Given the description of an element on the screen output the (x, y) to click on. 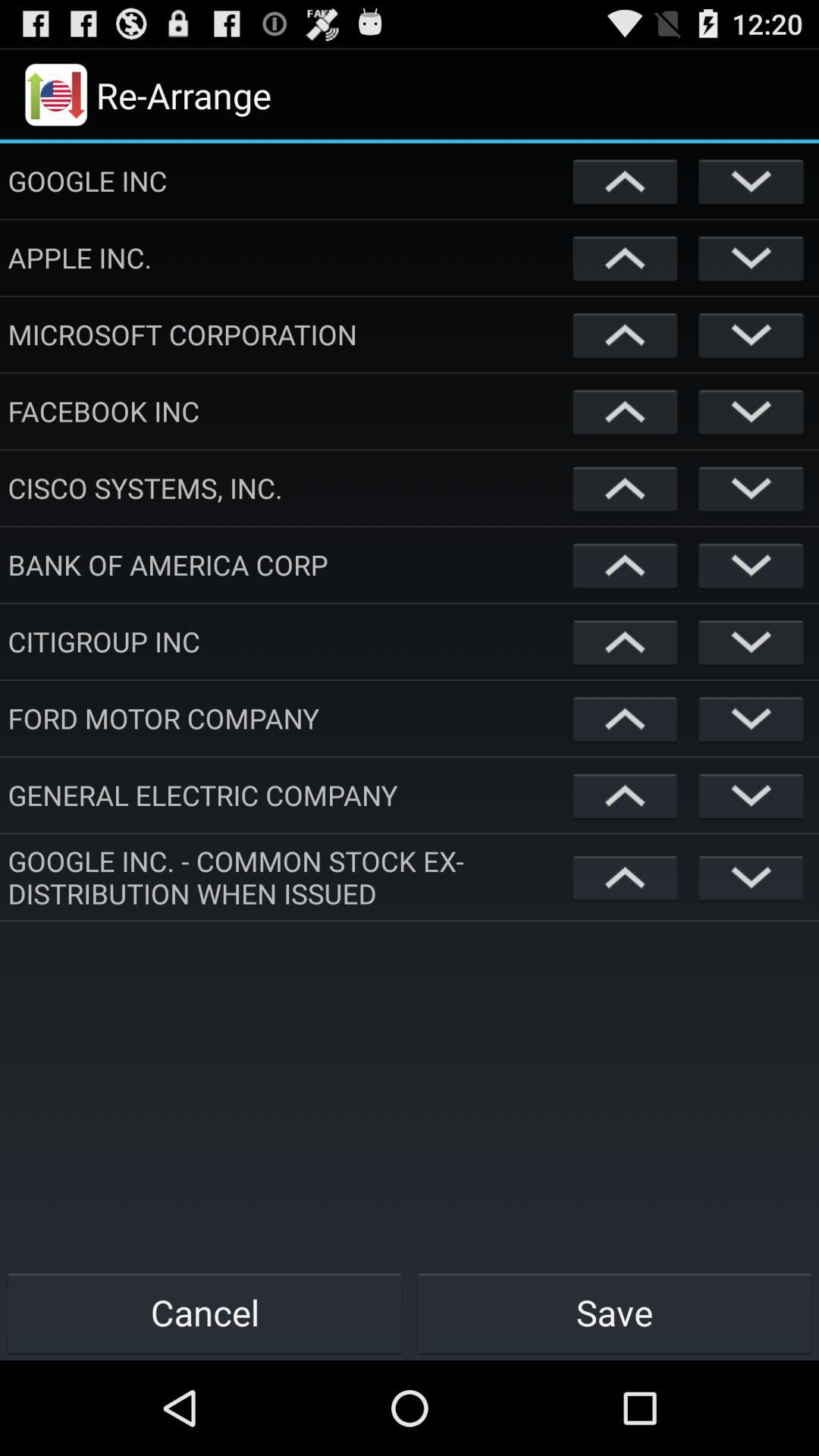
click the icon next to the save item (204, 1312)
